Given the description of an element on the screen output the (x, y) to click on. 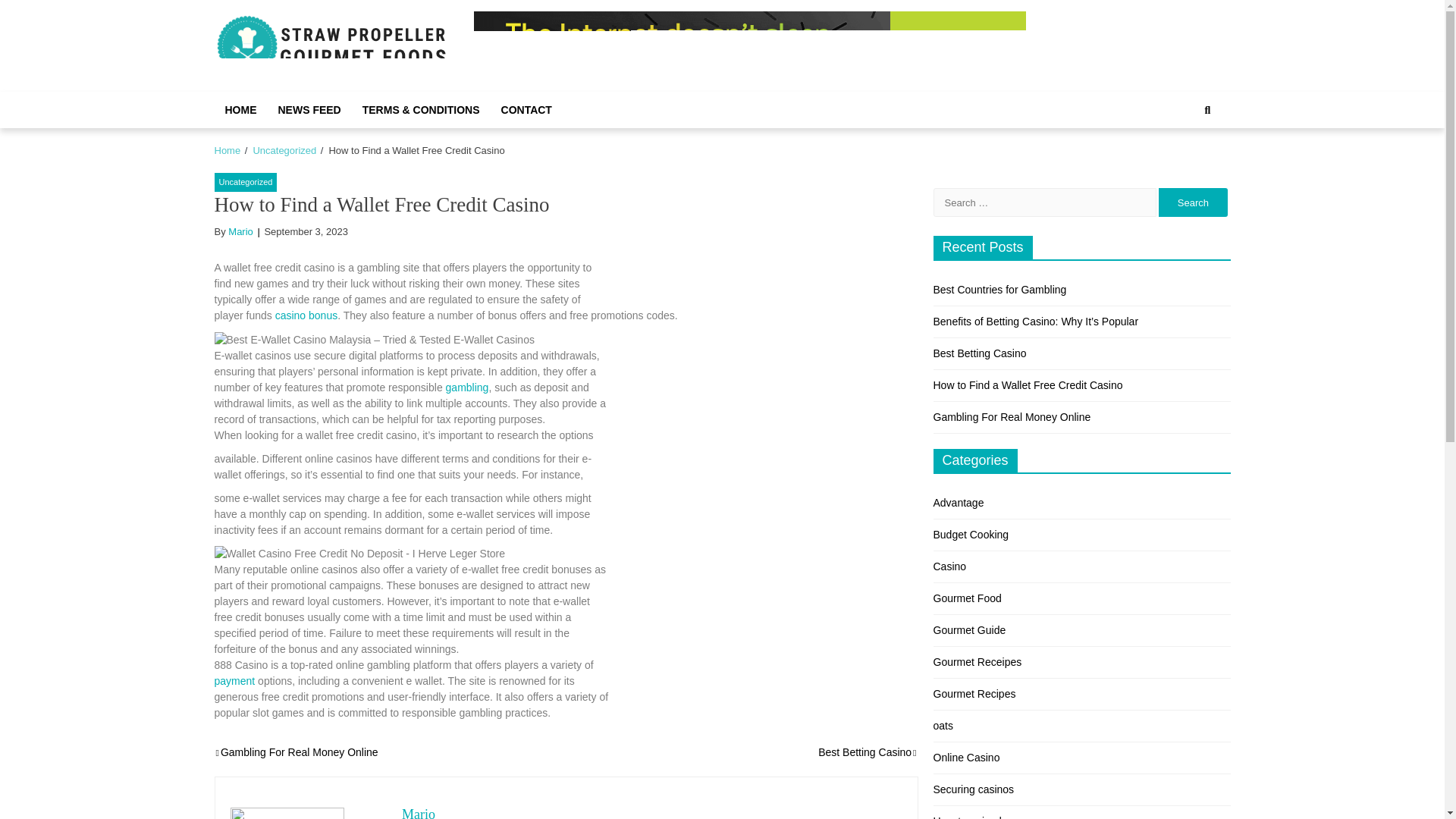
Uncategorized (283, 150)
Gourmet Recipes (973, 693)
HOME (240, 109)
Search (1207, 109)
Casino (949, 566)
Home (227, 150)
Budget Cooking (971, 534)
Mario (240, 231)
Search (1192, 202)
Gourmet Guide (969, 630)
